Given the description of an element on the screen output the (x, y) to click on. 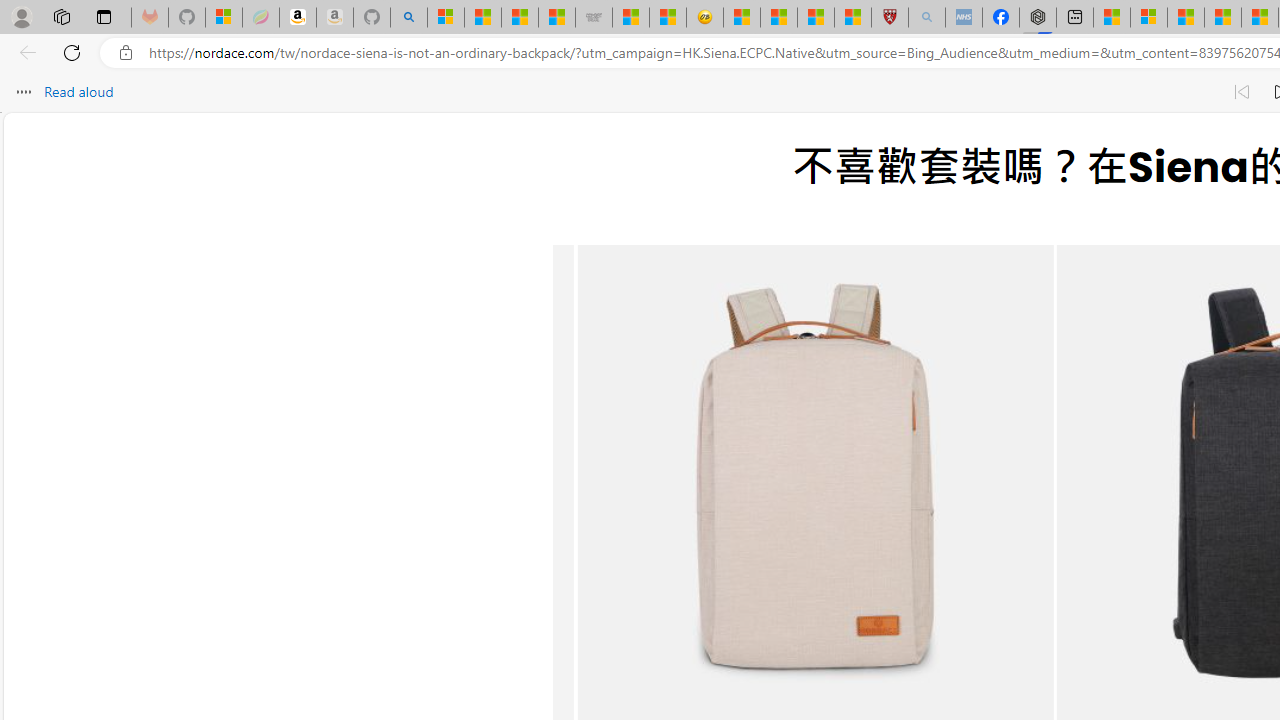
Science - MSN (815, 17)
Combat Siege (593, 17)
Robert H. Shmerling, MD - Harvard Health (889, 17)
